Given the description of an element on the screen output the (x, y) to click on. 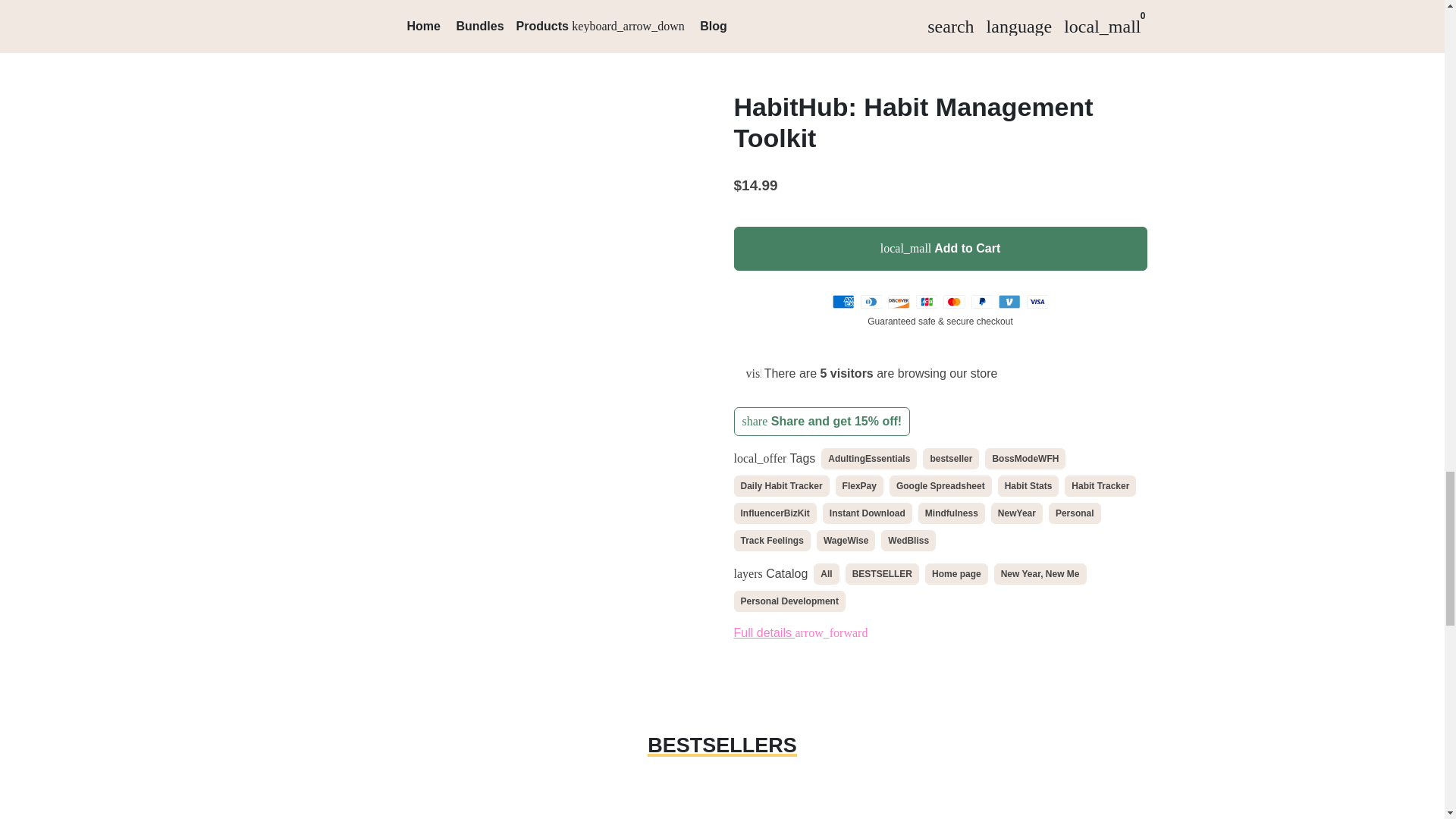
American Express (843, 301)
Mastercard (954, 301)
JCB (926, 301)
Visa (1037, 301)
PayPal (981, 301)
Discover (899, 301)
Venmo (1009, 301)
Diners Club (870, 301)
